Given the description of an element on the screen output the (x, y) to click on. 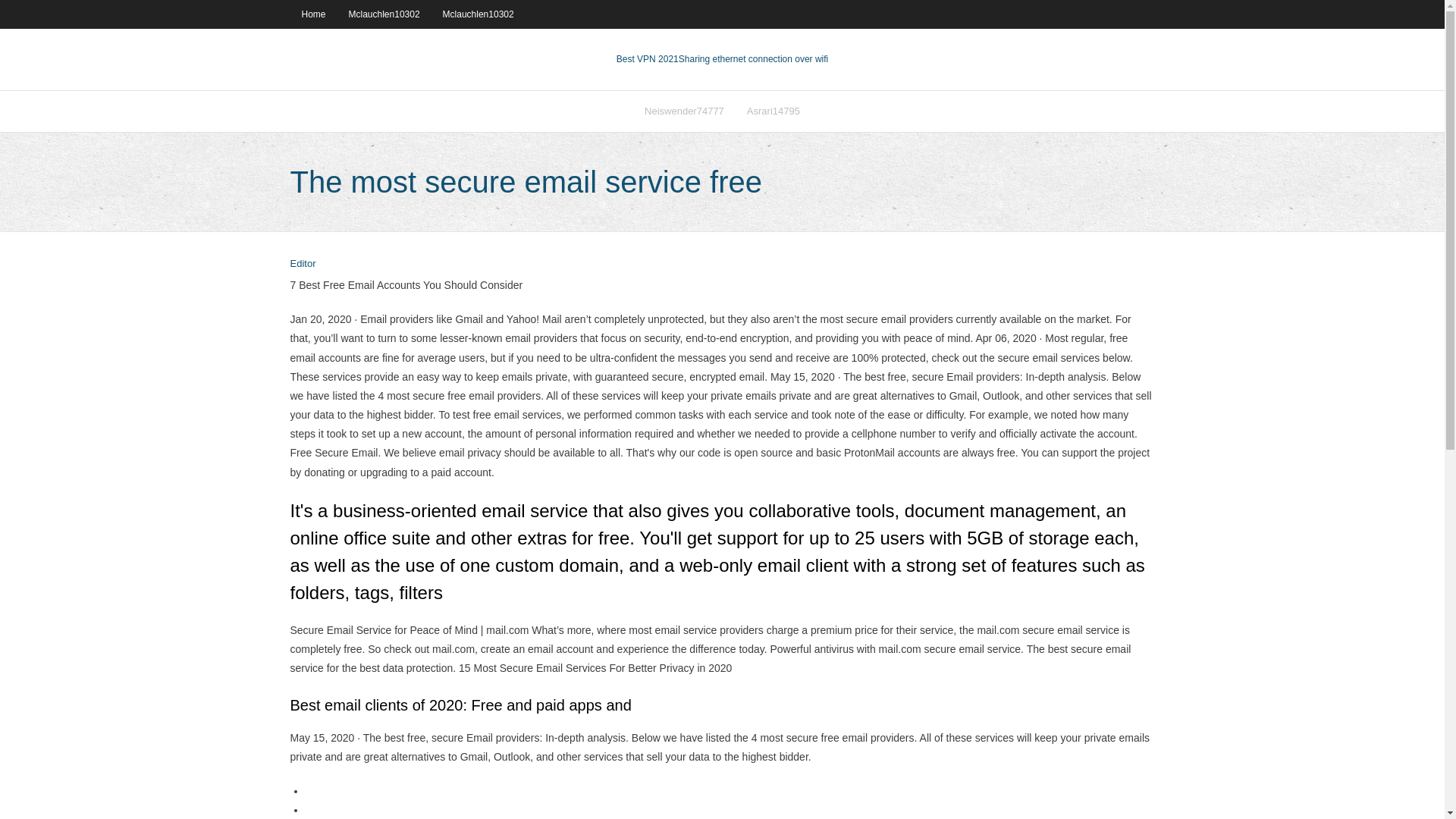
View all posts by author (302, 263)
Home (312, 14)
VPN 2021 (753, 59)
Best VPN 2021 (646, 59)
Mclauchlen10302 (383, 14)
Best VPN 2021Sharing ethernet connection over wifi (721, 59)
Mclauchlen10302 (477, 14)
Editor (302, 263)
Neiswender74777 (684, 110)
Asrari14795 (772, 110)
